Given the description of an element on the screen output the (x, y) to click on. 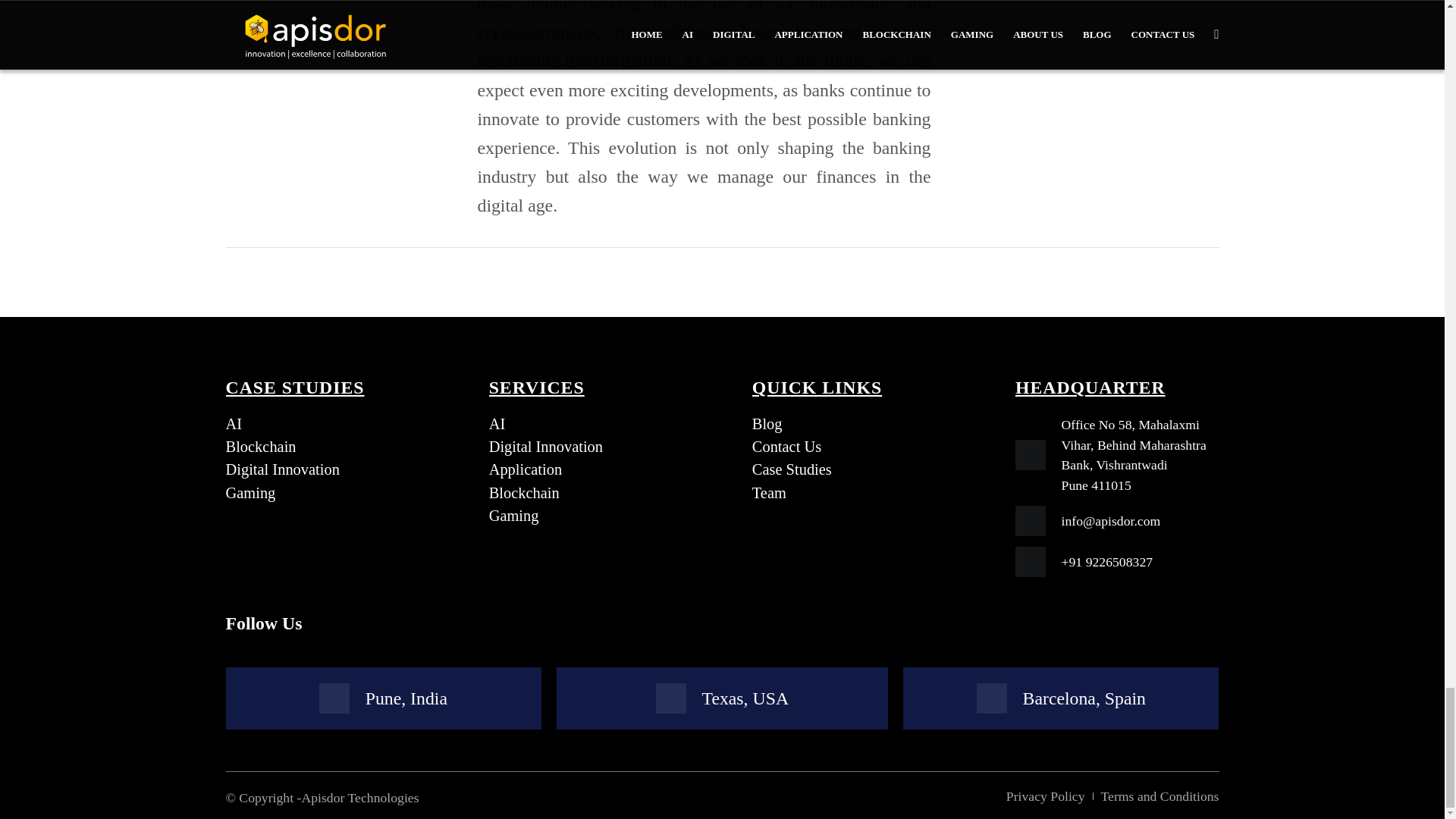
Digital Innovation (591, 446)
Blog (854, 423)
Blockchain (591, 493)
Facebook (337, 622)
Gaming (591, 516)
Gaming (327, 493)
AI (327, 423)
AI (591, 423)
Twitter (429, 622)
Team (854, 493)
Terms and Conditions (1160, 795)
Digital Innovation (327, 469)
Privacy Policy (1045, 795)
Apisdor Technologies (360, 797)
LinkedIn (368, 622)
